Given the description of an element on the screen output the (x, y) to click on. 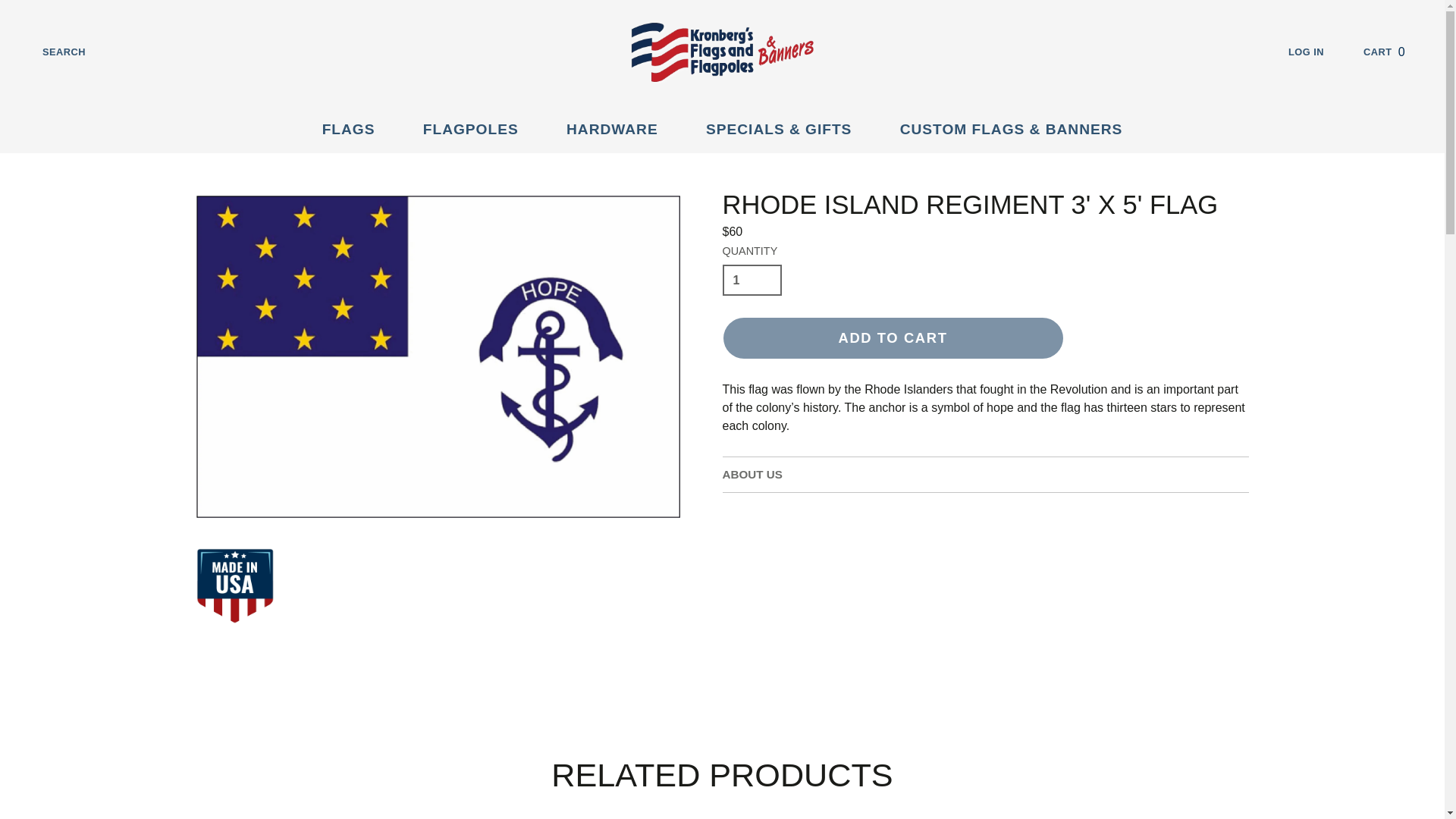
FLAGS (1394, 52)
LOG IN (357, 130)
SEARCH (1318, 52)
